Given the description of an element on the screen output the (x, y) to click on. 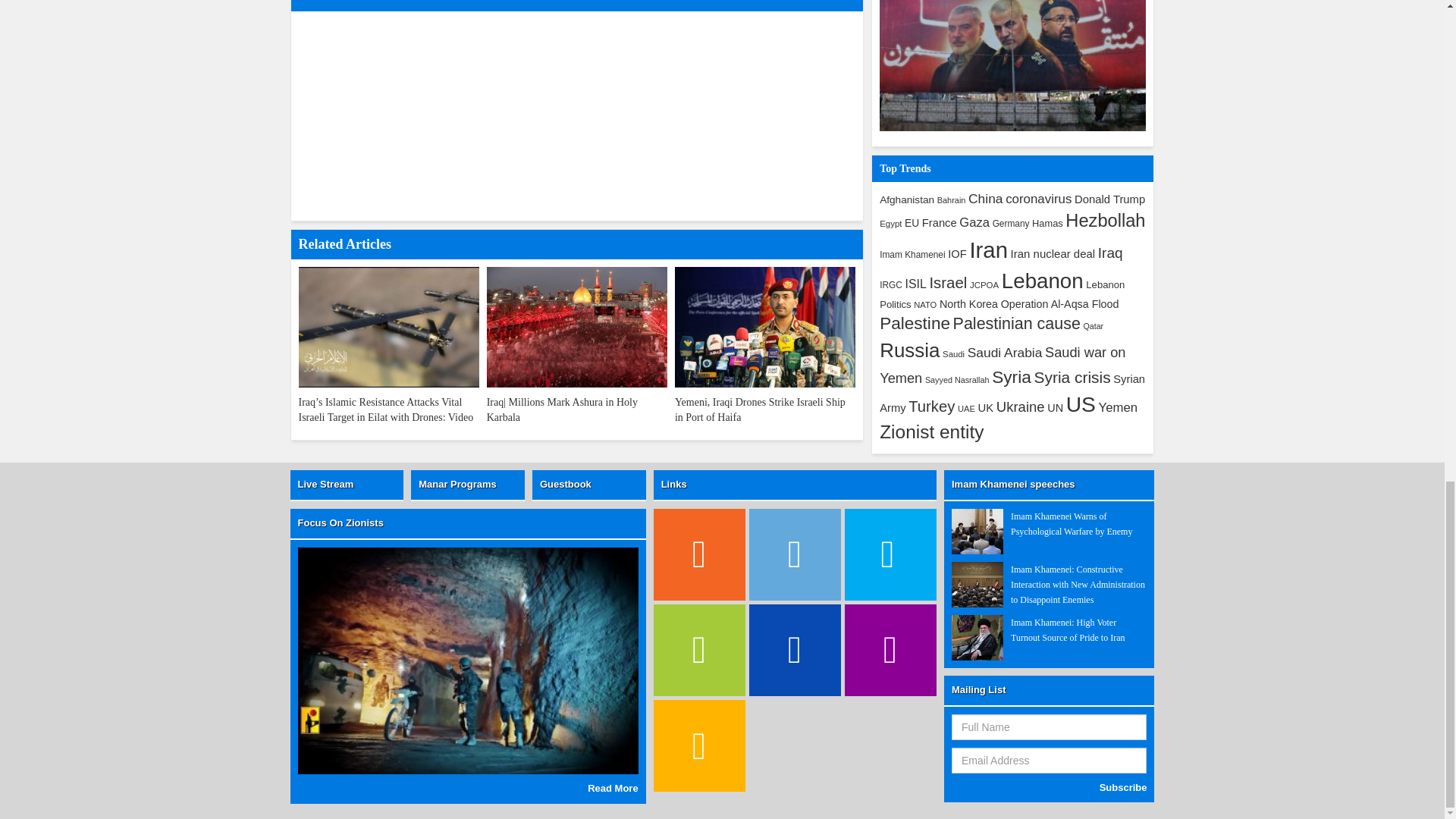
323 topics (890, 223)
569 topics (1109, 199)
555 topics (938, 223)
291 topics (951, 199)
806 topics (1038, 198)
466 topics (906, 199)
890 topics (985, 198)
478 topics (911, 223)
344 topics (1010, 223)
775 topics (974, 222)
